Given the description of an element on the screen output the (x, y) to click on. 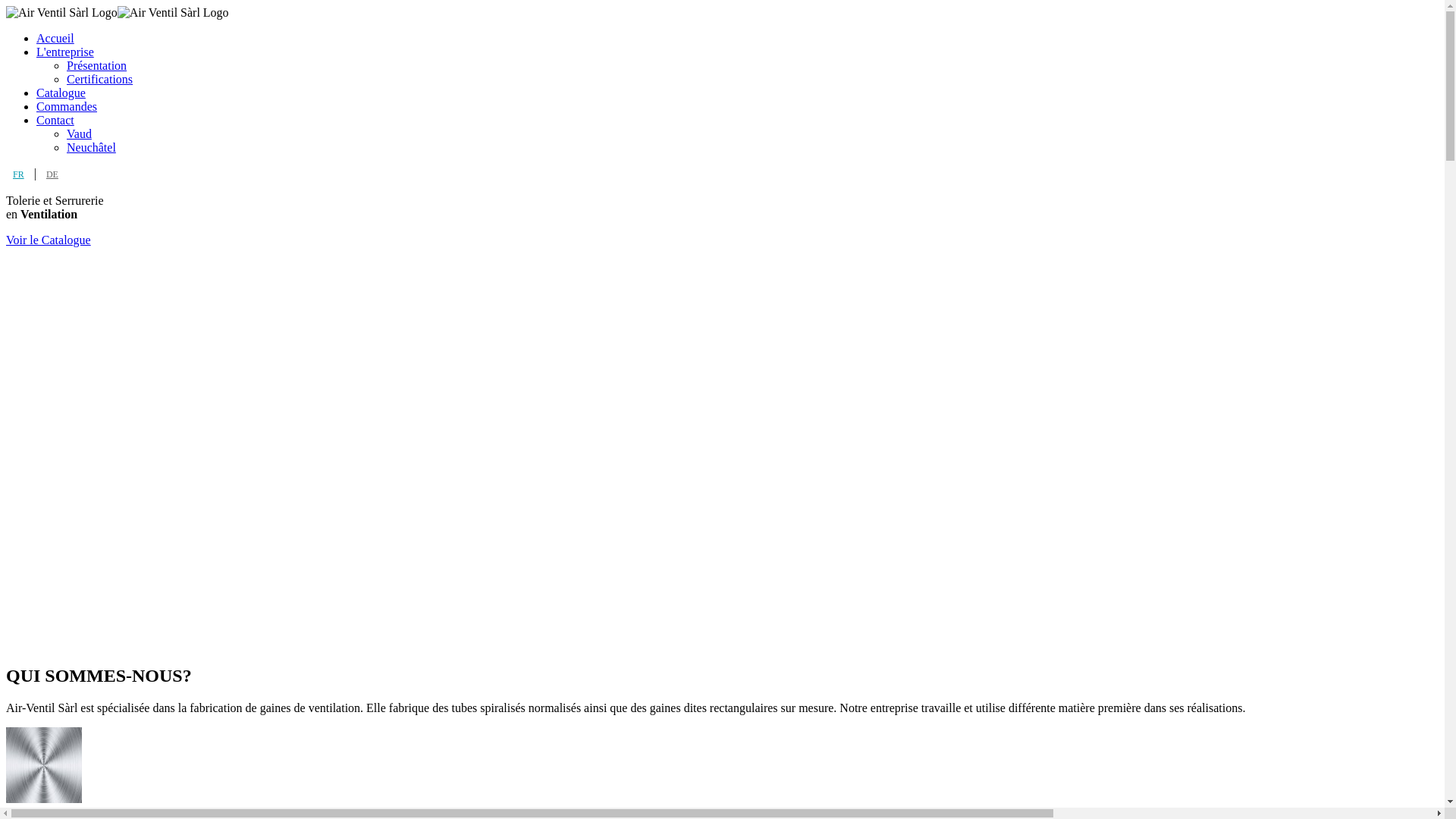
Voir le Catalogue Element type: text (48, 239)
Accueil Element type: text (737, 38)
Certifications Element type: text (752, 79)
Contact Element type: text (737, 120)
Vaud Element type: text (752, 134)
Catalogue Element type: text (737, 93)
DE Element type: text (52, 174)
L'entreprise Element type: text (737, 52)
FR Element type: text (18, 174)
Commandes Element type: text (737, 106)
